Given the description of an element on the screen output the (x, y) to click on. 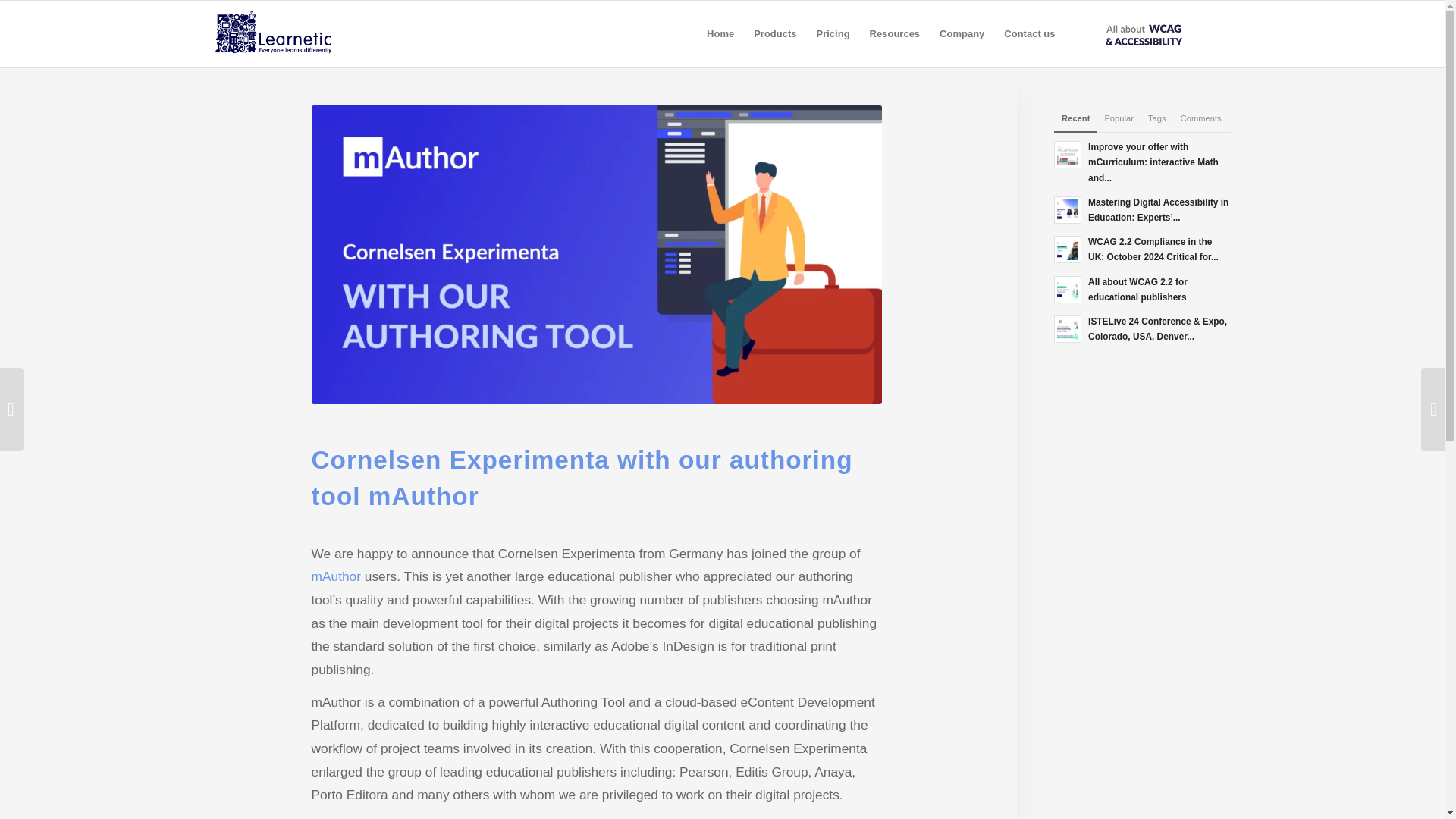
Contact us (1029, 33)
Resources (895, 33)
All about WCAG 2.2 for educational publishers (1142, 288)
Company (962, 33)
Learnetic-navy blue-logo (288, 33)
Products (775, 33)
